Given the description of an element on the screen output the (x, y) to click on. 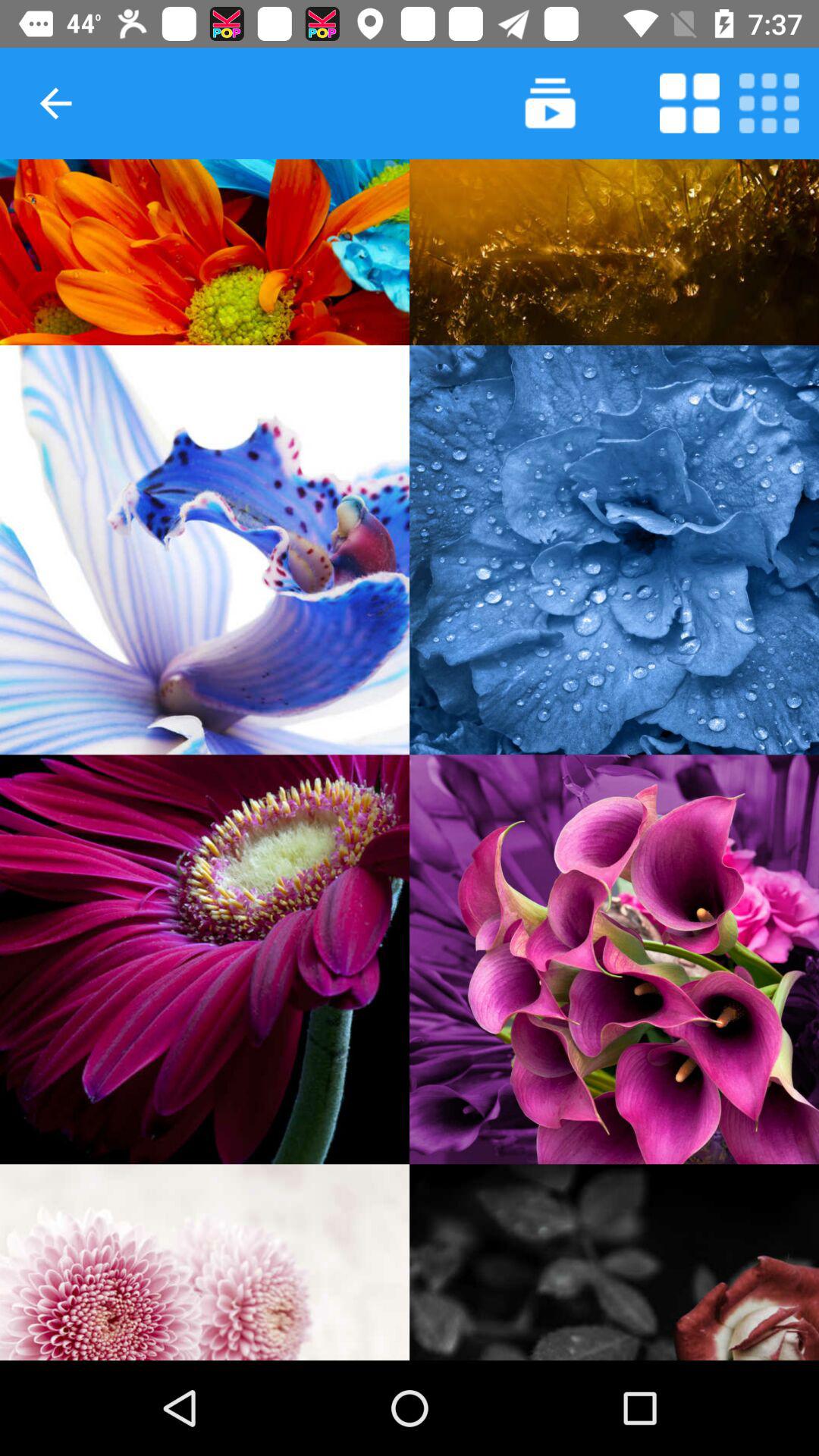
select picture (614, 549)
